Given the description of an element on the screen output the (x, y) to click on. 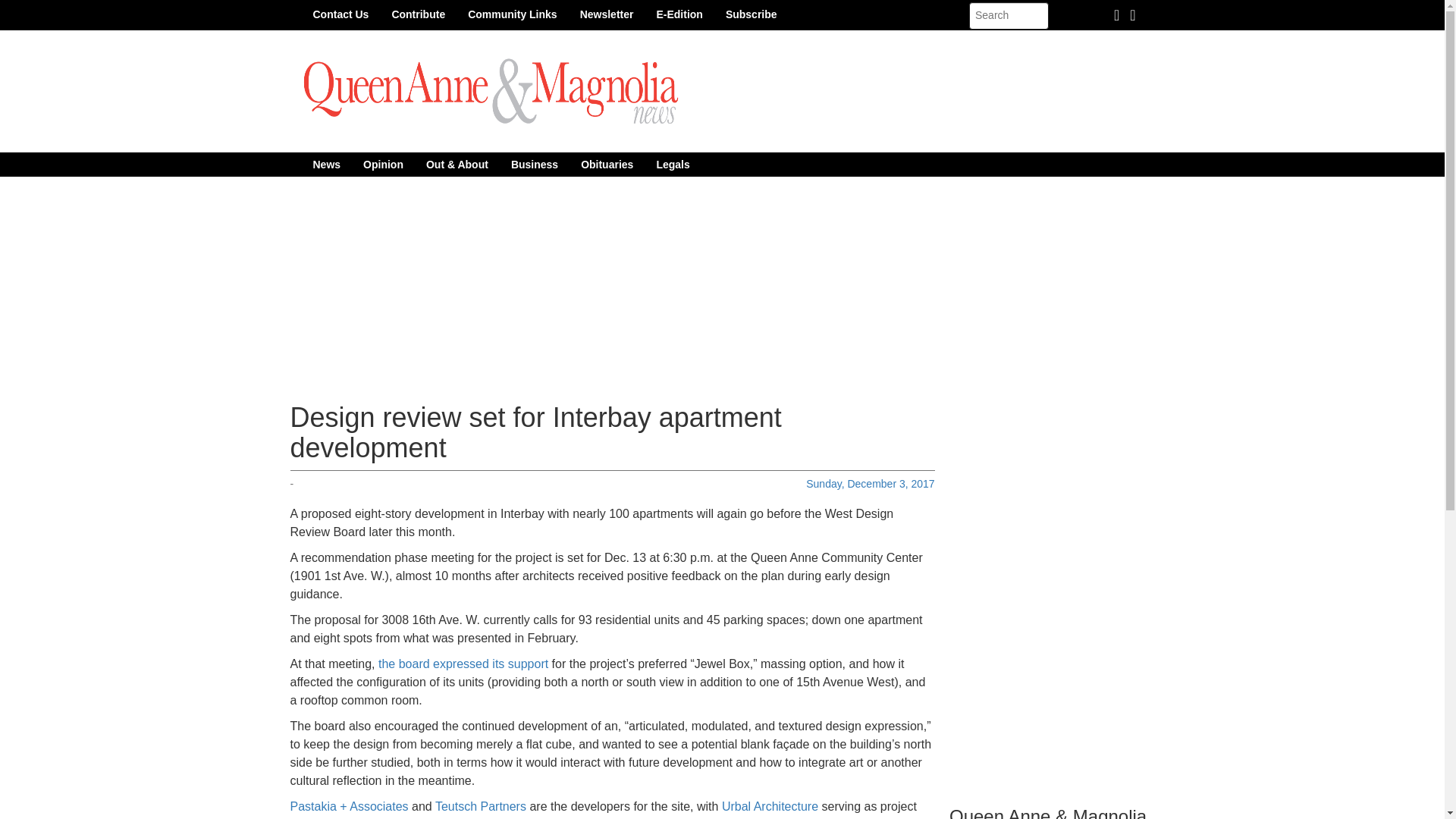
Community Links (512, 14)
News (326, 164)
E-Edition (679, 14)
Business (534, 164)
Obituaries (607, 164)
Contribute (418, 14)
Opinion (383, 164)
Sunday, December 3, 2017 (870, 483)
Newsletter (607, 14)
Legals (672, 164)
Subscribe (751, 14)
Contact Us (340, 14)
